Given the description of an element on the screen output the (x, y) to click on. 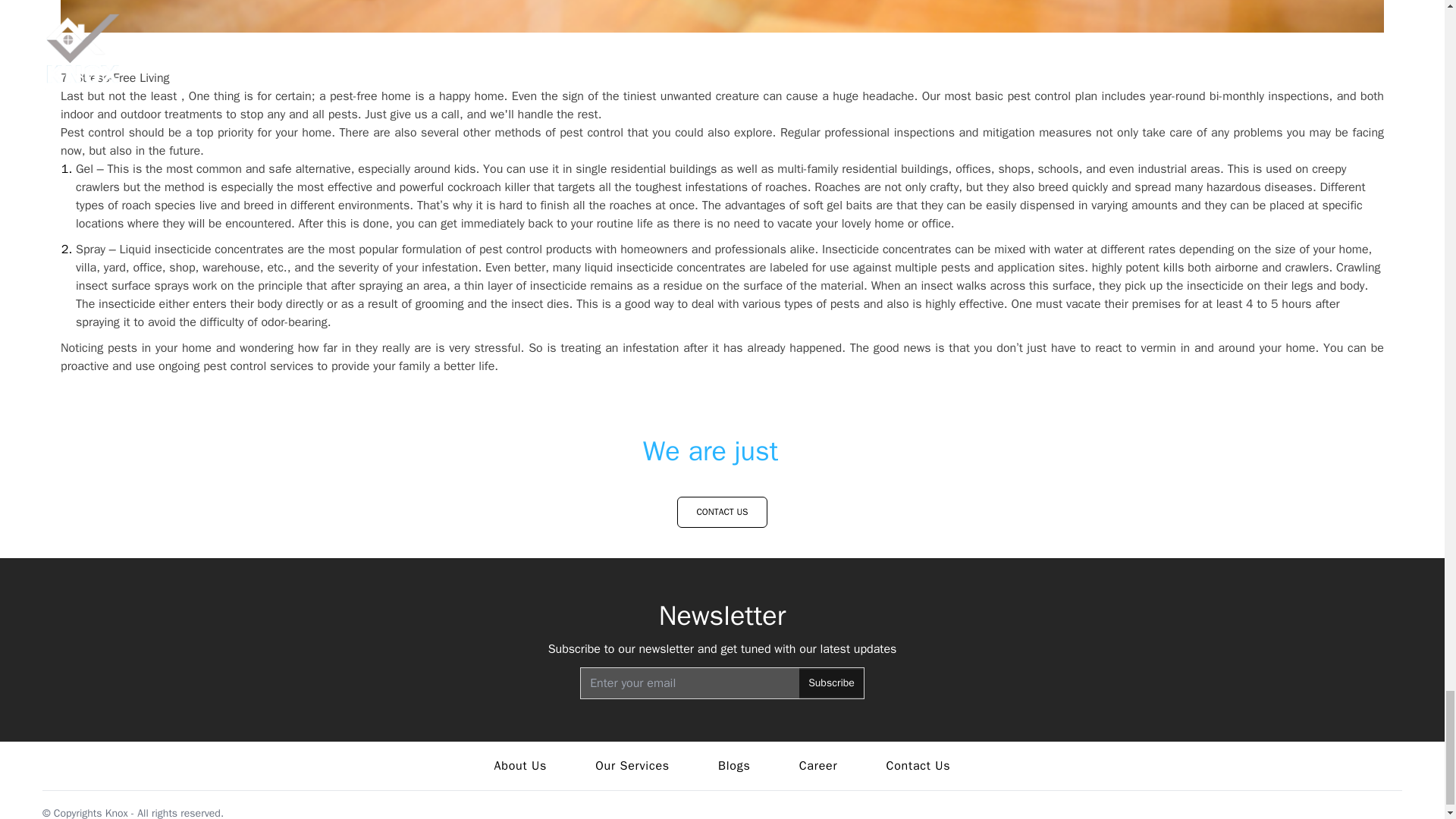
CONTACT US (722, 511)
About Us (521, 765)
Career (818, 765)
methods of pest control (559, 132)
Contact Us (917, 765)
Subscribe (831, 682)
Blogs (734, 765)
Our Services (632, 765)
